Given the description of an element on the screen output the (x, y) to click on. 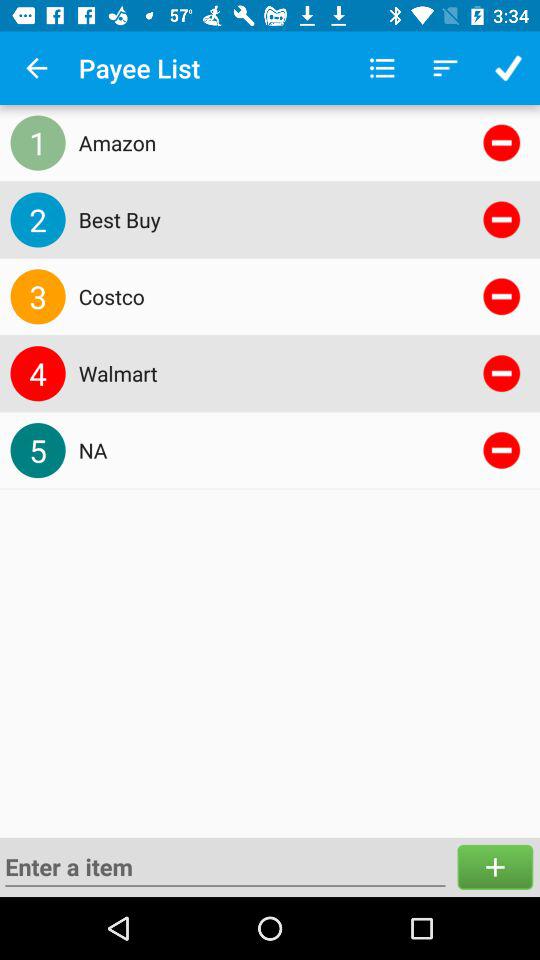
add new row (225, 867)
